Given the description of an element on the screen output the (x, y) to click on. 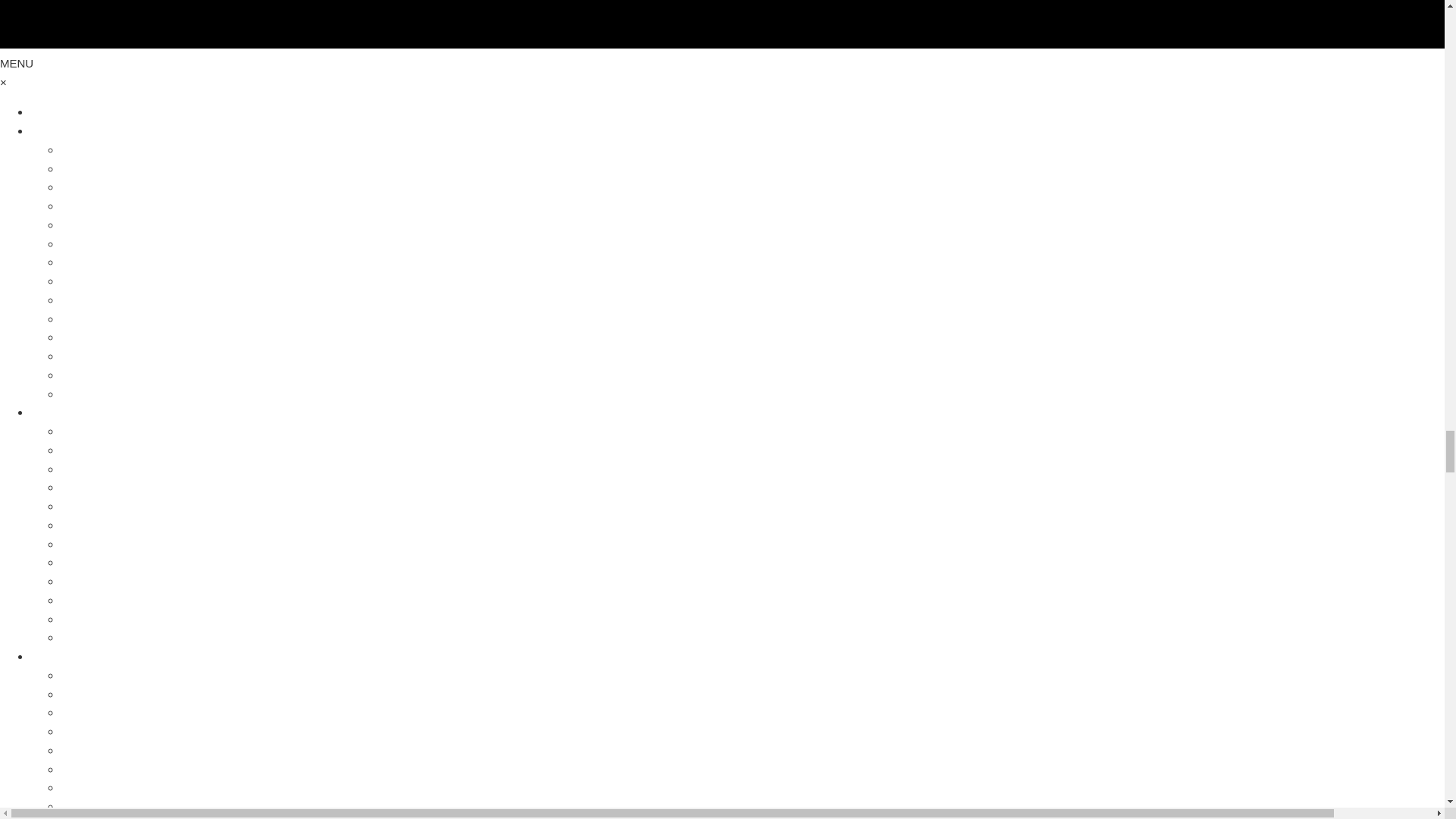
uabb-menu-toggle (722, 24)
